Given the description of an element on the screen output the (x, y) to click on. 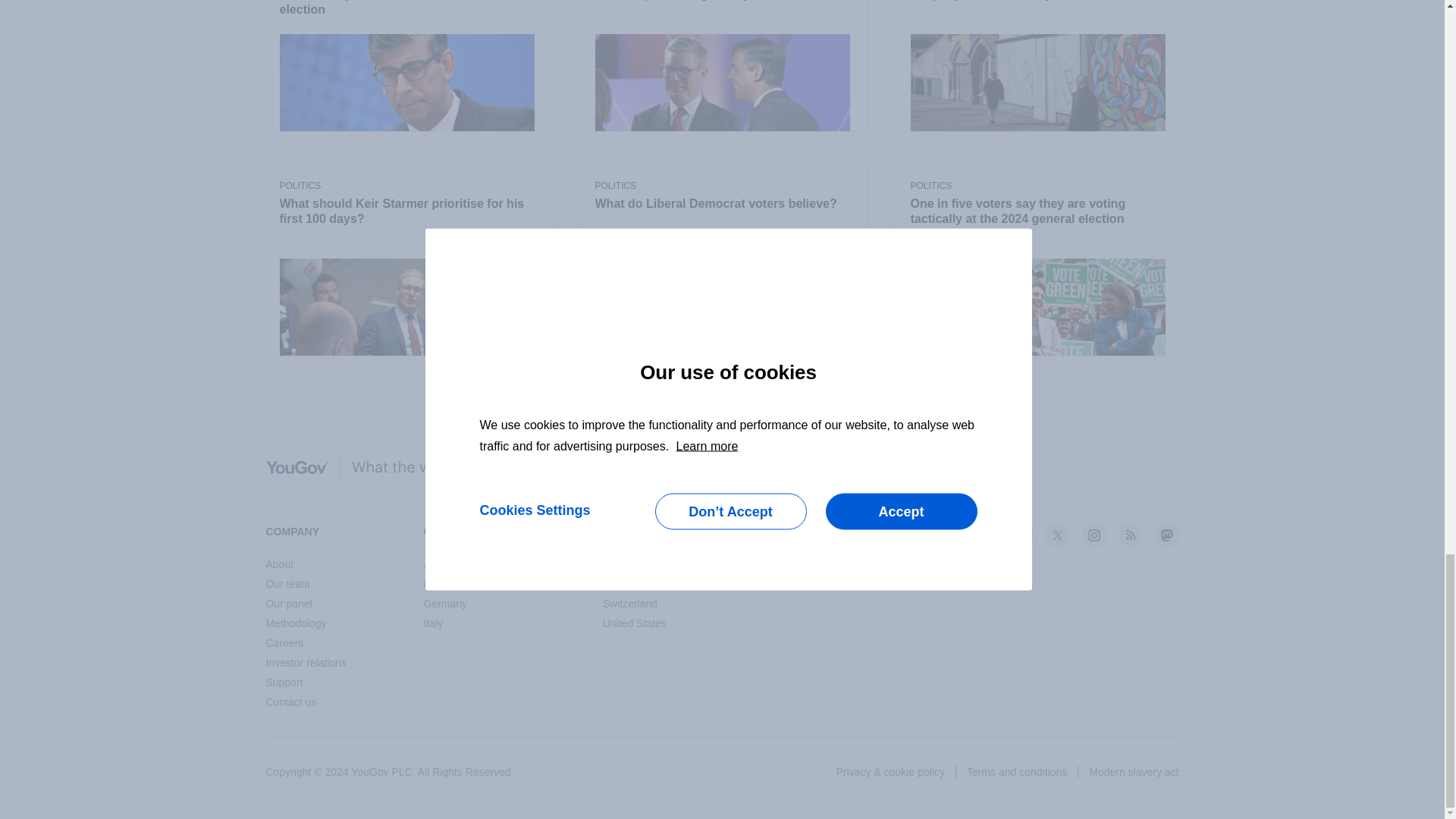
What do Liberal Democrat voters believe? (721, 204)
What should Keir Starmer prioritise for his first 100 days? (406, 212)
